Given the description of an element on the screen output the (x, y) to click on. 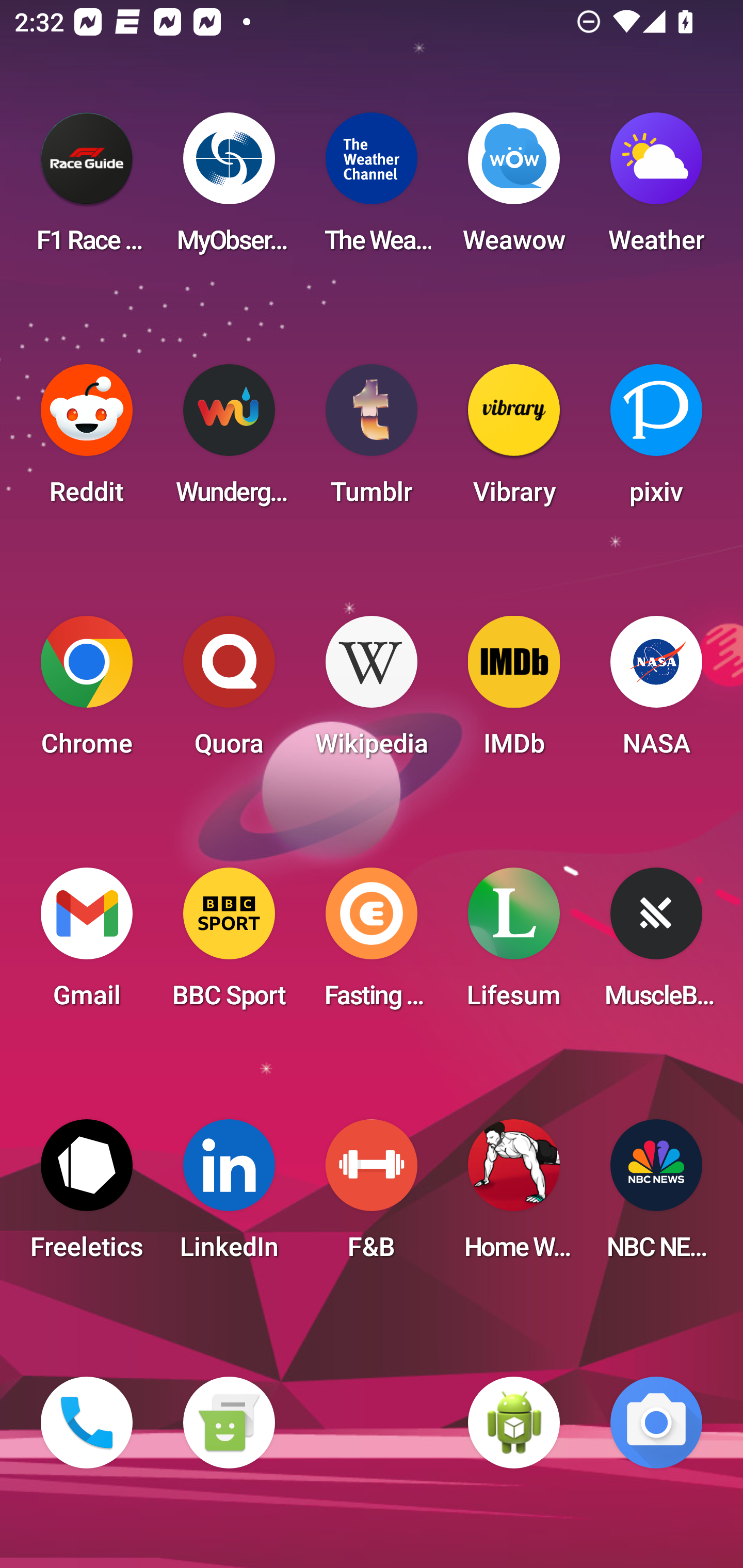
F1 Race Guide (86, 188)
MyObservatory (228, 188)
The Weather Channel (371, 188)
Weawow (513, 188)
Weather (656, 188)
Reddit (86, 440)
Wunderground (228, 440)
Tumblr (371, 440)
Vibrary (513, 440)
pixiv (656, 440)
Chrome (86, 692)
Quora (228, 692)
Wikipedia (371, 692)
IMDb (513, 692)
NASA (656, 692)
Gmail (86, 943)
BBC Sport (228, 943)
Fasting Coach (371, 943)
Lifesum (513, 943)
MuscleBooster (656, 943)
Freeletics (86, 1195)
LinkedIn (228, 1195)
F&B (371, 1195)
Home Workout (513, 1195)
NBC NEWS (656, 1195)
Phone (86, 1422)
Messaging (228, 1422)
WebView Browser Tester (513, 1422)
Camera (656, 1422)
